Given the description of an element on the screen output the (x, y) to click on. 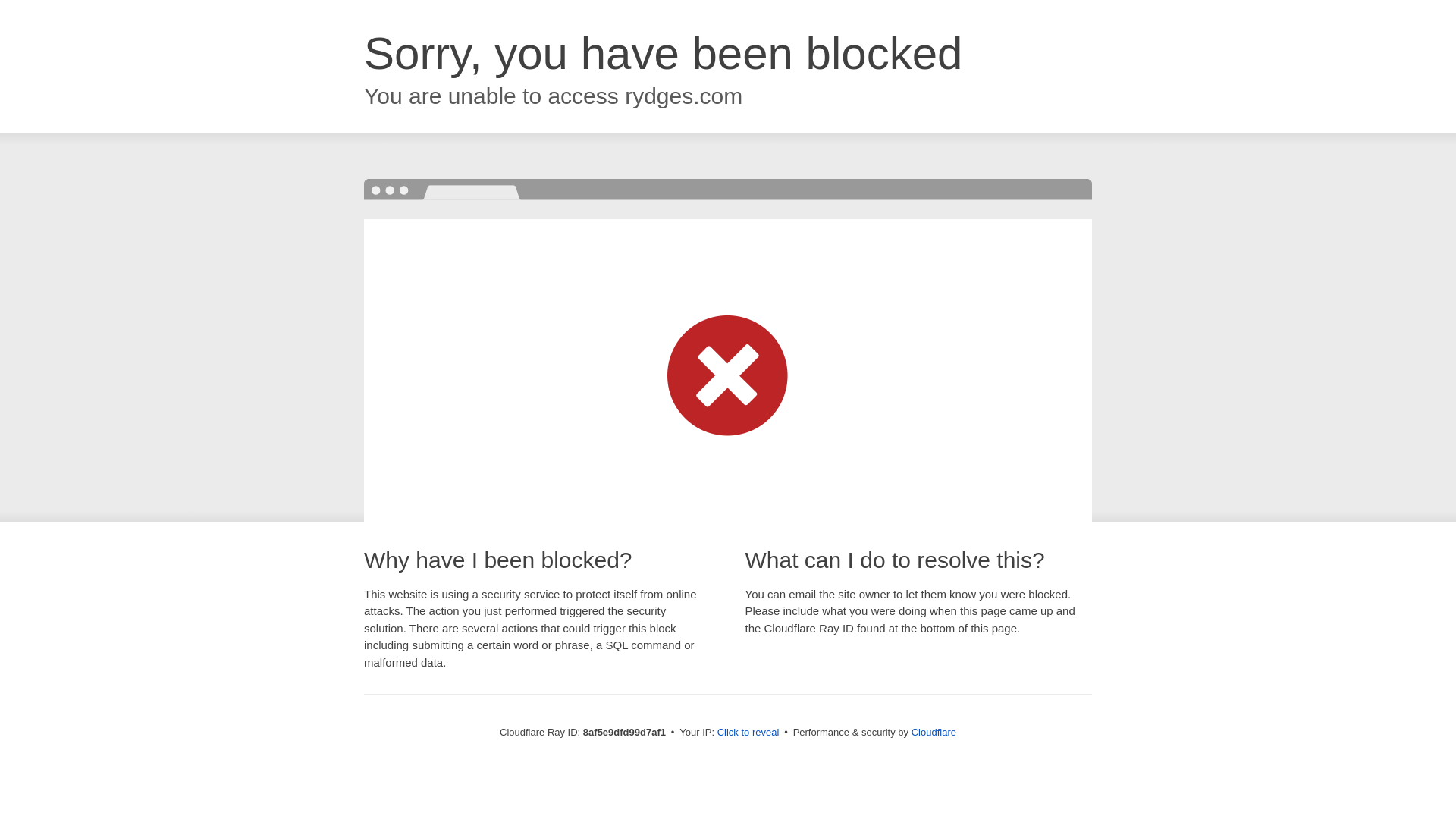
Click to reveal (747, 732)
Cloudflare (933, 731)
